Given the description of an element on the screen output the (x, y) to click on. 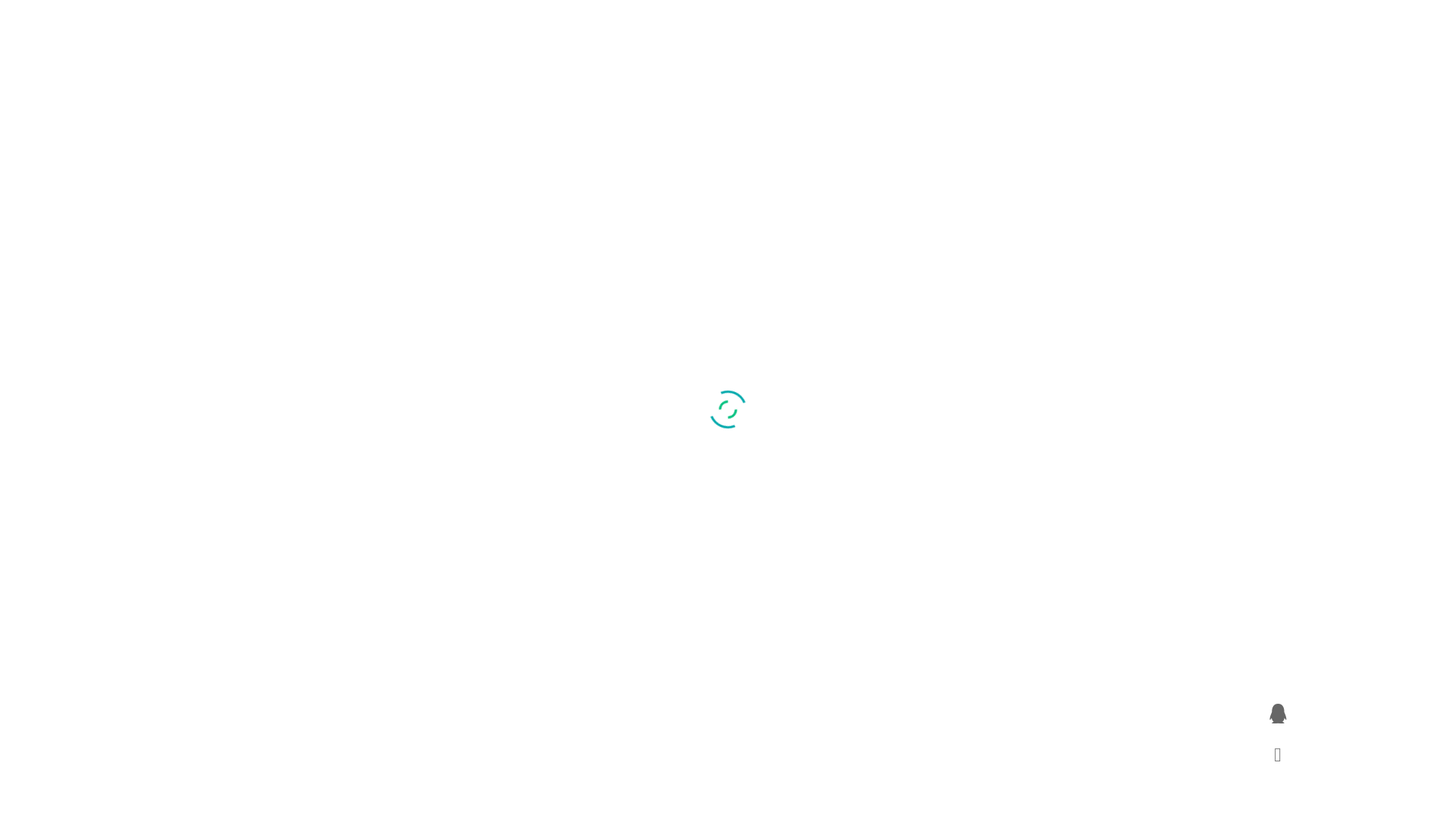
https://www.2usealol.com/ Element type: text (716, 755)
